Given the description of an element on the screen output the (x, y) to click on. 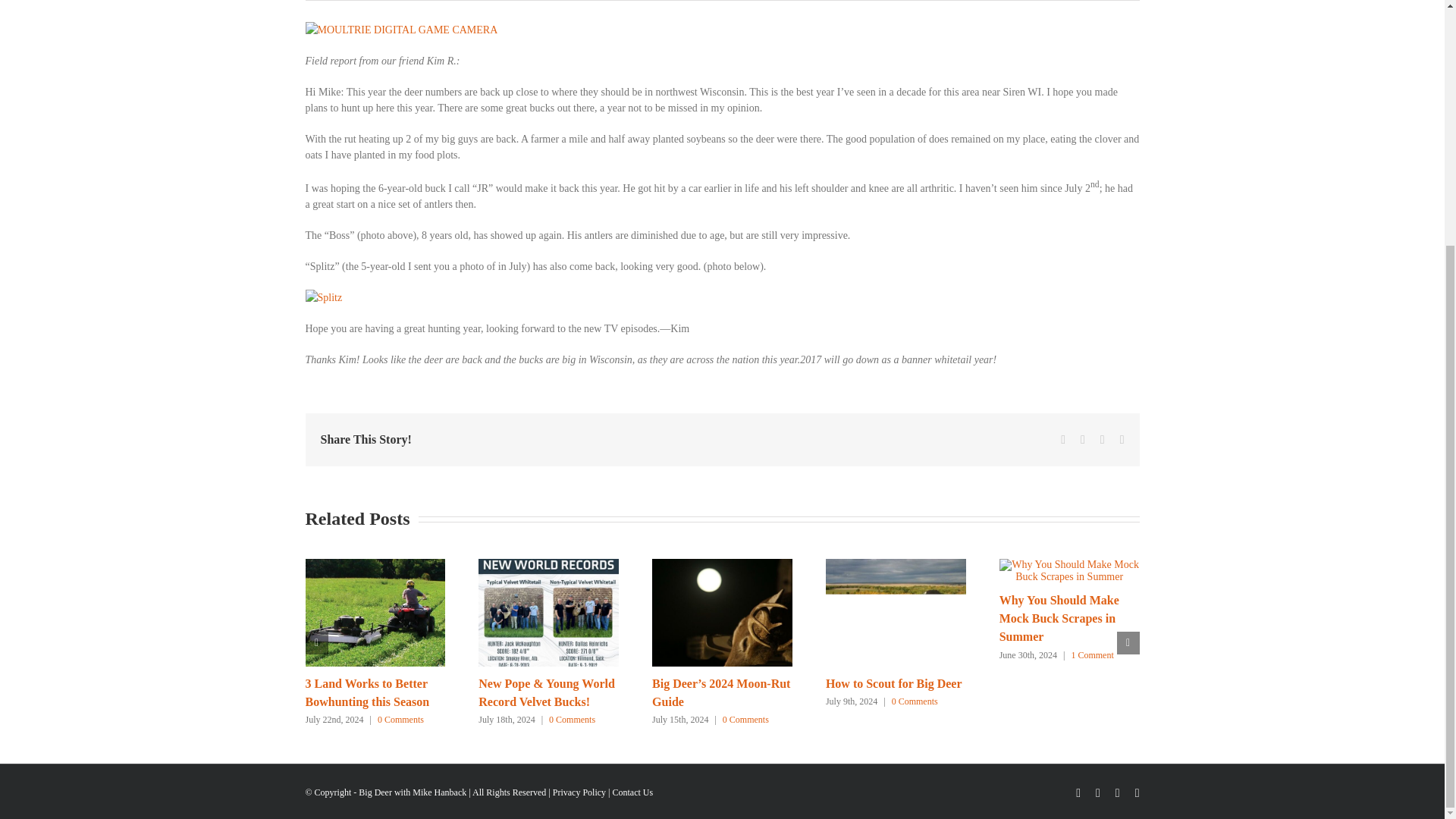
X (1082, 439)
LinkedIn (1102, 439)
Email (1121, 439)
3 Land Works to Better Bowhunting this Season (366, 692)
Facebook (1063, 439)
